Given the description of an element on the screen output the (x, y) to click on. 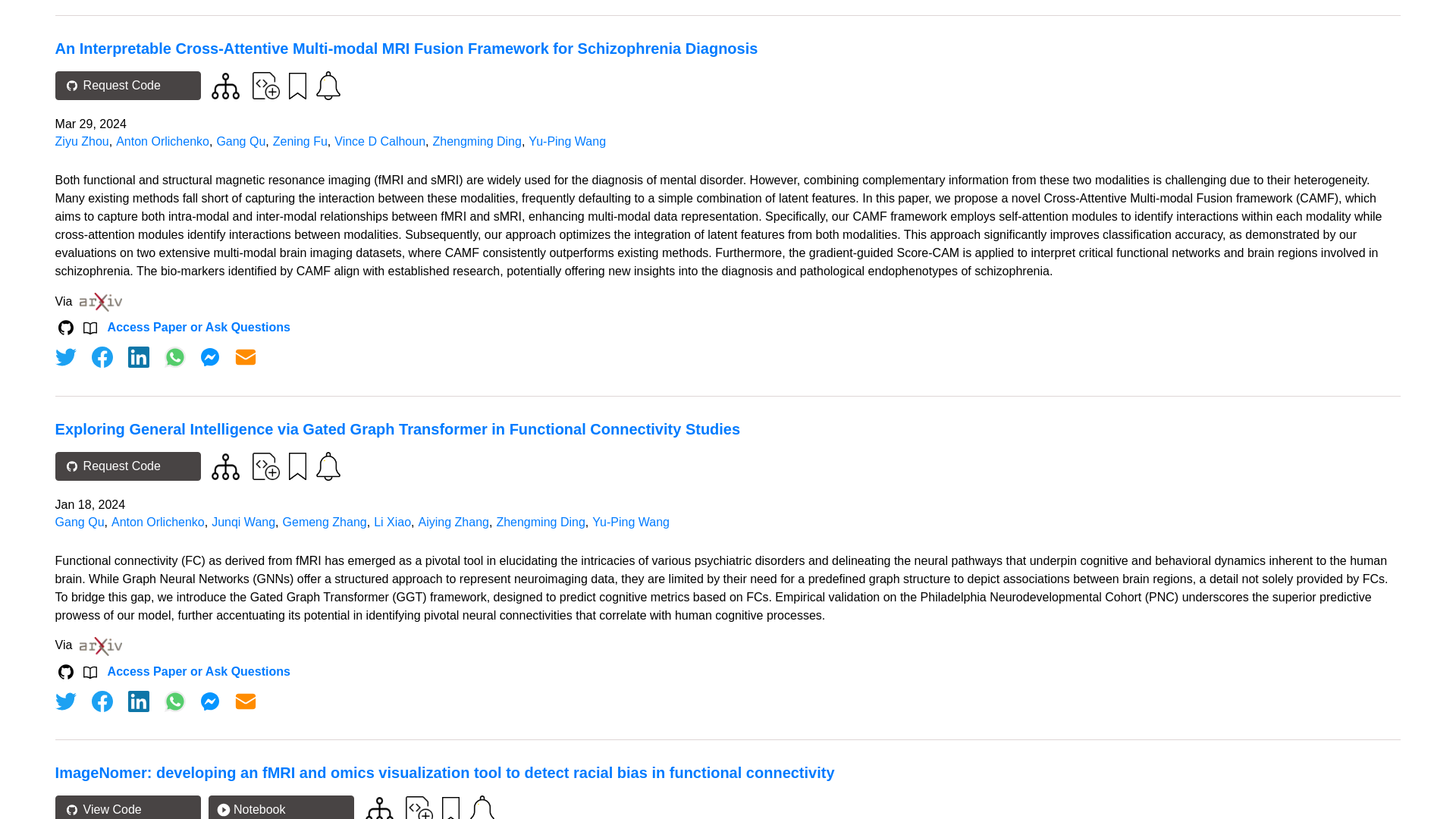
Ziyu Zhou (82, 141)
Share via Email (245, 701)
Zening Fu (300, 141)
Anton Orlichenko (162, 141)
Share via Email (245, 356)
Contribute your code for this paper to the community (265, 85)
Request Code (127, 85)
Gang Qu (239, 141)
View code for similar papers (225, 466)
View code for similar papers (225, 85)
Contribute your code for this paper to the community (265, 465)
